Given the description of an element on the screen output the (x, y) to click on. 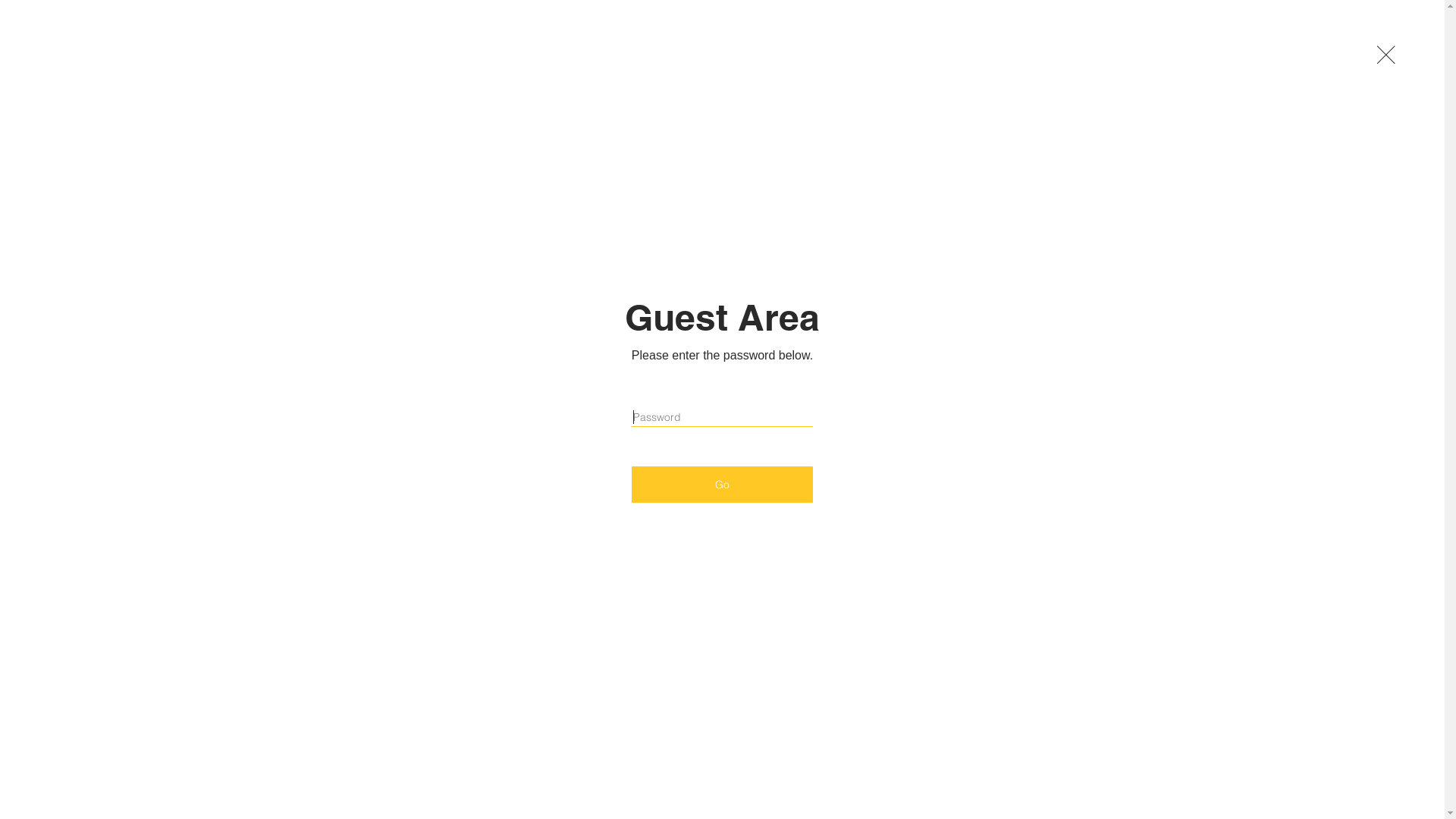
Go Element type: text (721, 484)
